Given the description of an element on the screen output the (x, y) to click on. 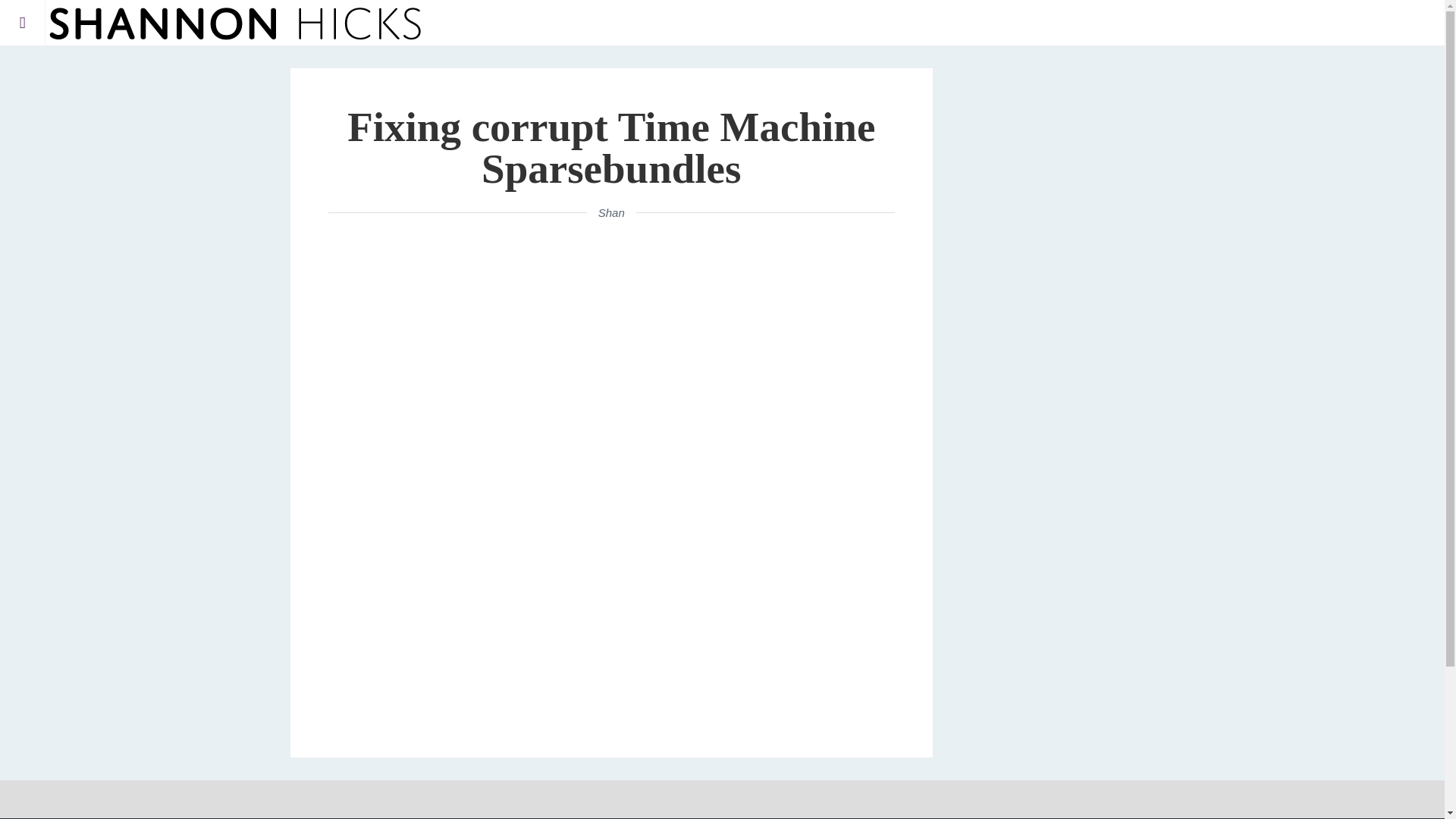
Shan (611, 212)
Projects (117, 73)
Projects (112, 65)
Posts by Shan (611, 212)
Shan's Blog (235, 22)
Projects (112, 65)
